Given the description of an element on the screen output the (x, y) to click on. 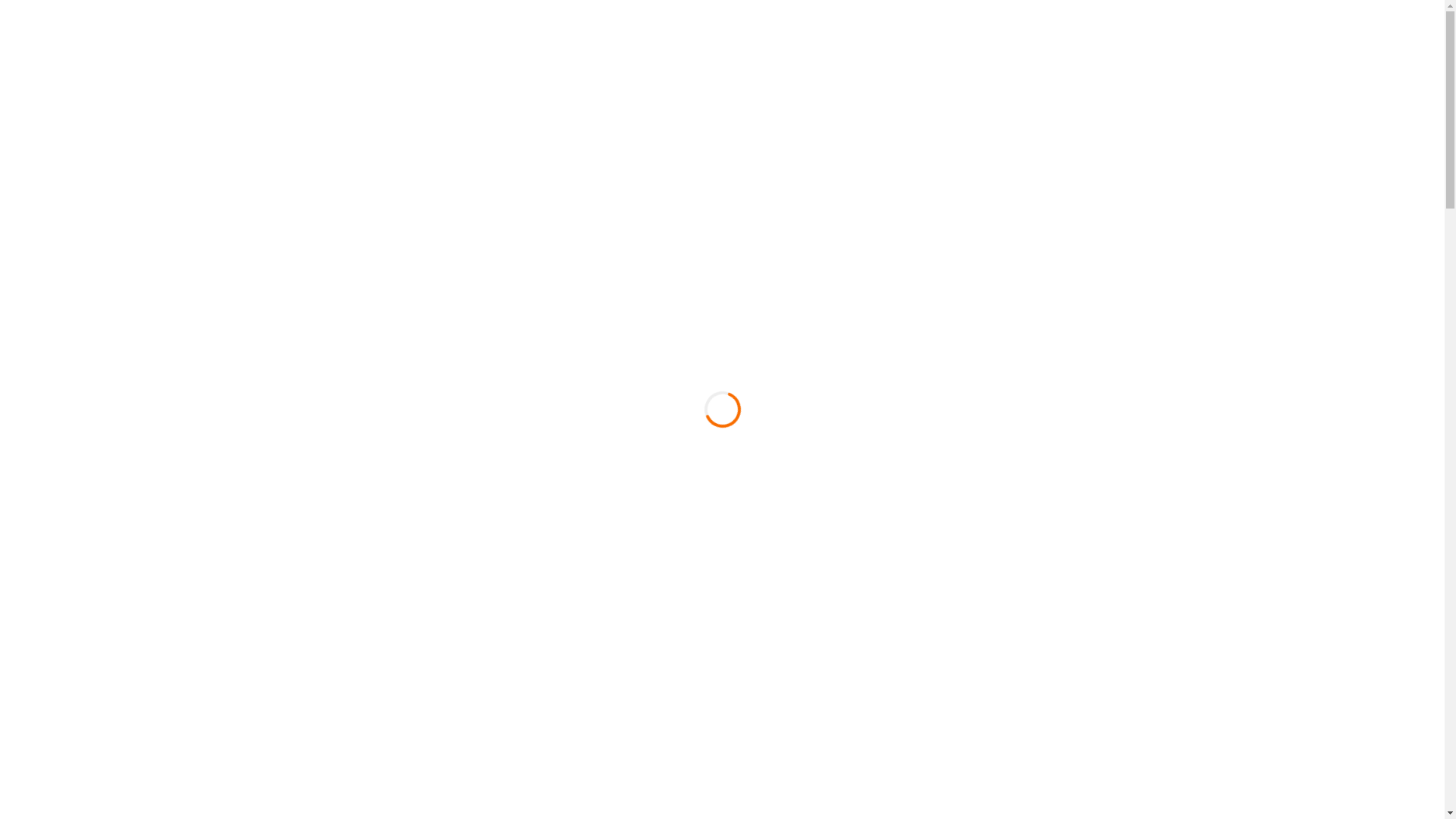
Info Element type: text (679, 80)
Next Element type: text (1335, 263)
Akcija Element type: text (736, 80)
Auto Element type: text (796, 80)
Moto Element type: text (854, 80)
Marine Element type: text (919, 80)
Kontakt Element type: text (1104, 80)
Rabljena Vozila Element type: text (1009, 80)
Previous Element type: text (108, 263)
